Given the description of an element on the screen output the (x, y) to click on. 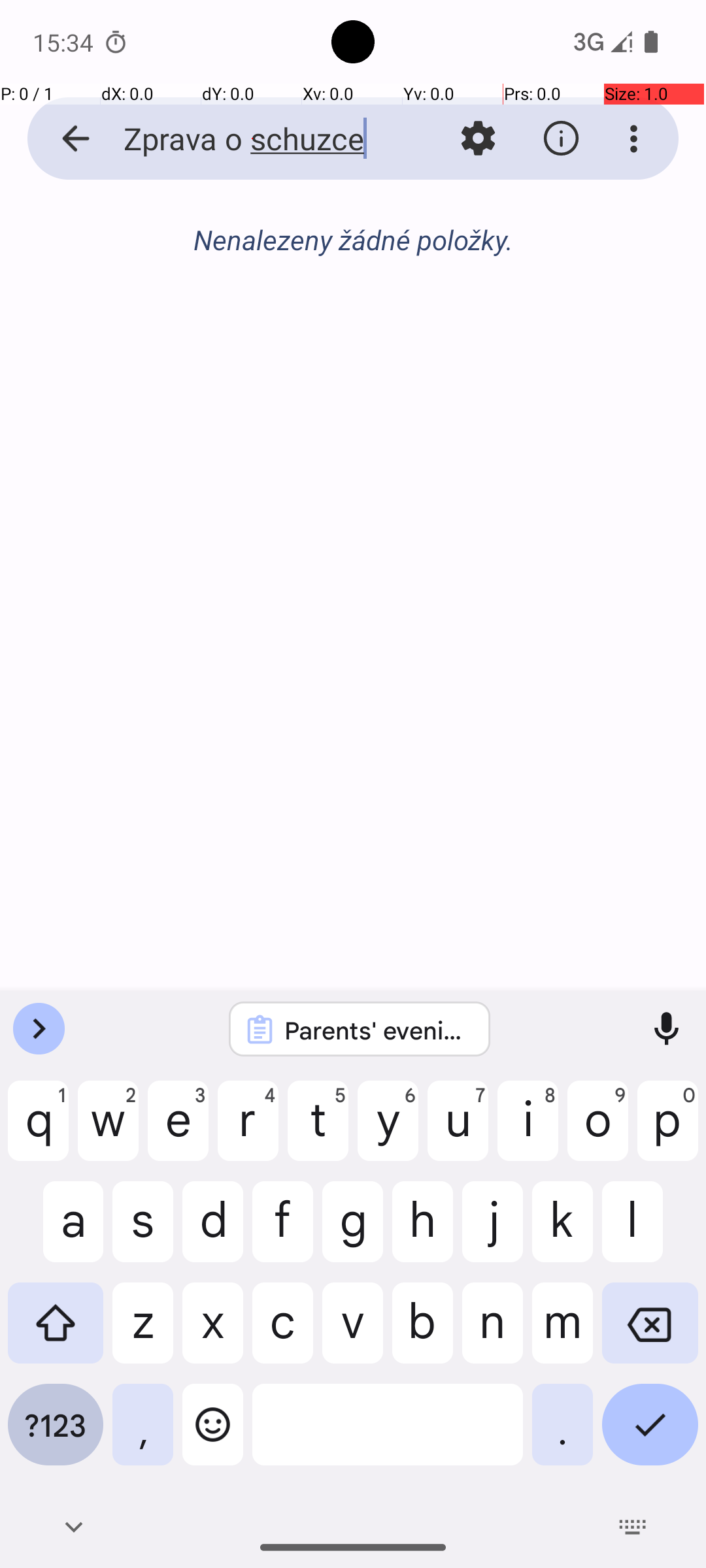
Nenalezeny žádné položky. Element type: android.widget.TextView (353, 239)
Zpět Element type: android.widget.ImageView (61, 138)
Zprava o schuzce Element type: android.widget.EditText (252, 138)
O aplikaci Element type: android.widget.Button (560, 138)
Nebyly nalezeny žádné uložené konverzace Element type: android.widget.TextView (353, 246)
Zahajte konverzaci Element type: android.widget.TextView (352, 311)
Parents' evening at school this Wednesday. Element type: android.widget.TextView (376, 1029)
